Given the description of an element on the screen output the (x, y) to click on. 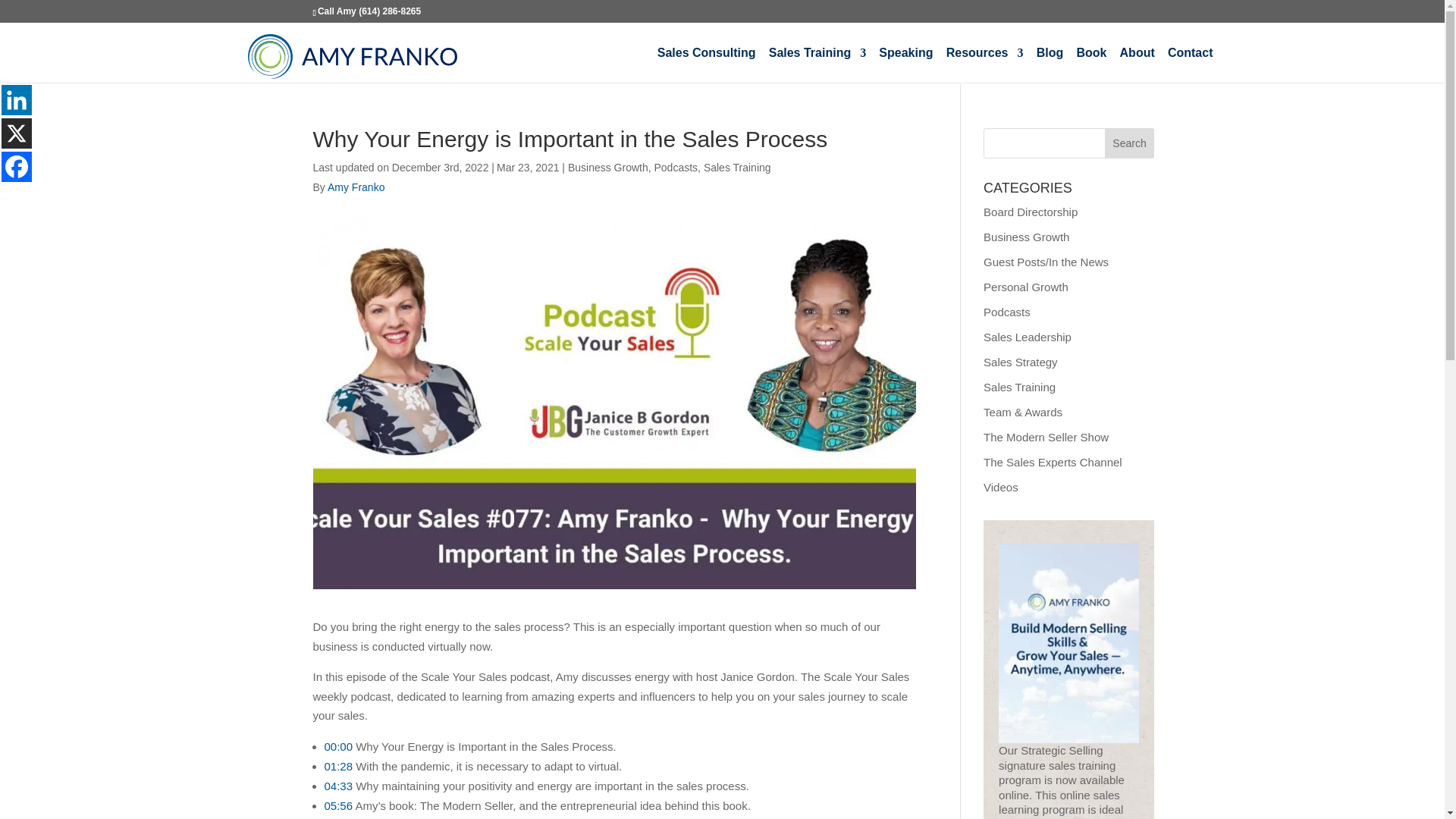
Search (1129, 142)
Sales Training (817, 64)
01:28 (338, 766)
Linkedin (16, 100)
Sales Training (737, 167)
X (16, 132)
Podcasts (675, 167)
Sales Leadership (1027, 336)
Sales Strategy (1021, 361)
Board Directorship (1030, 211)
